Given the description of an element on the screen output the (x, y) to click on. 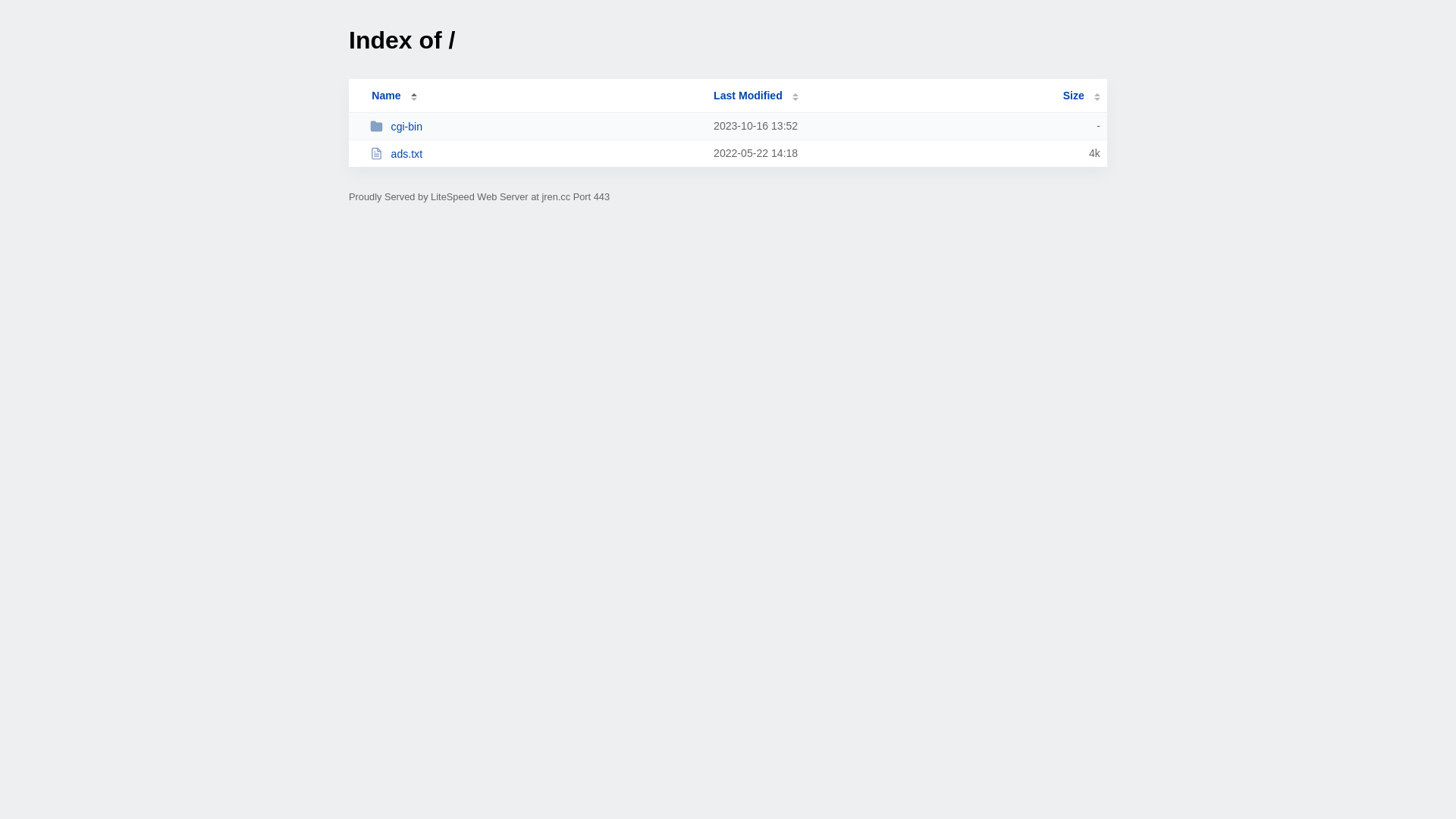
Name Element type: text (385, 95)
ads.txt Element type: text (534, 153)
Last Modified Element type: text (755, 95)
cgi-bin Element type: text (534, 125)
Size Element type: text (1081, 95)
